Given the description of an element on the screen output the (x, y) to click on. 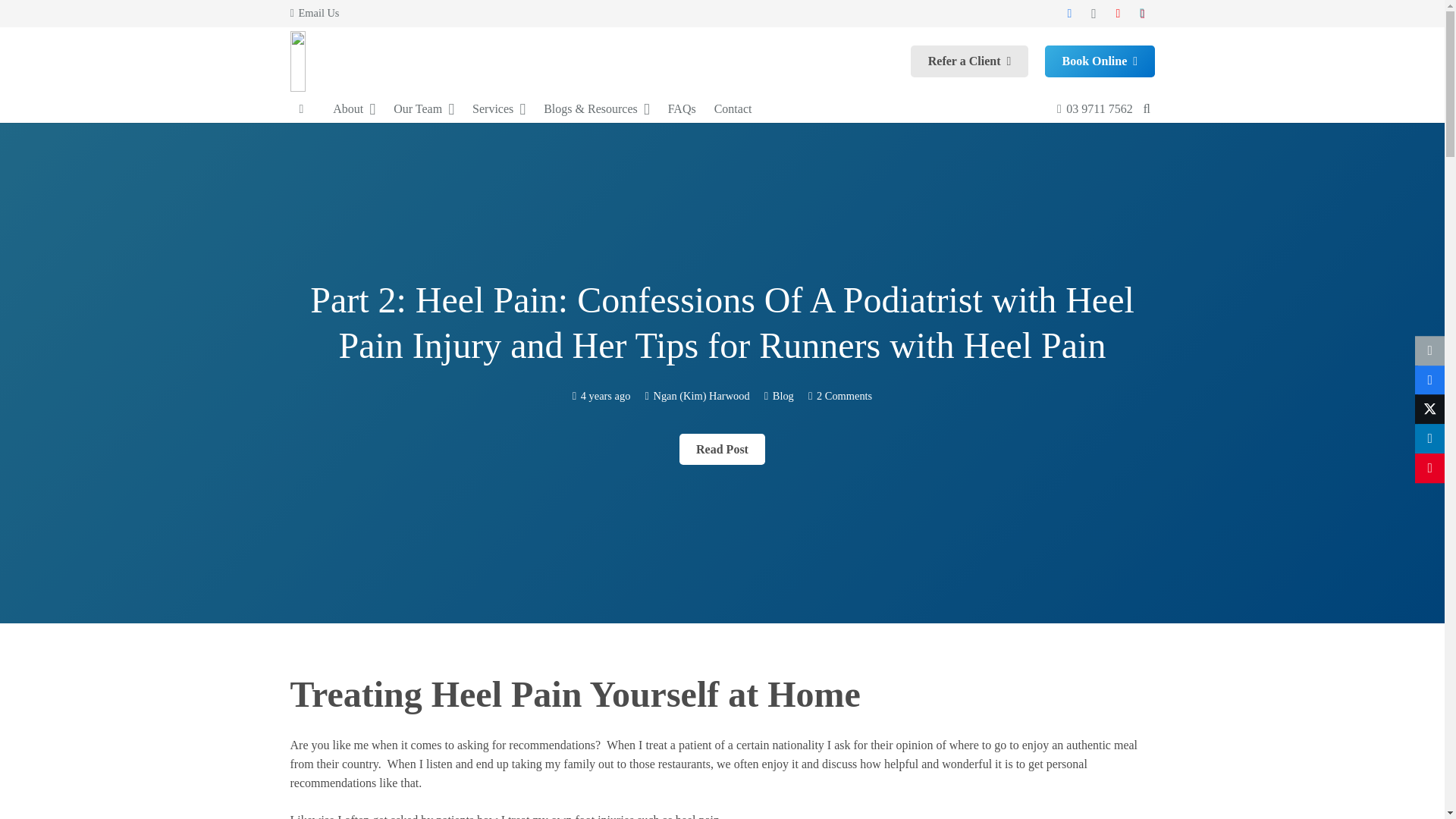
Services (498, 108)
TikTok (1142, 13)
Our Team (423, 108)
2 Comments (844, 395)
Refer a Client (969, 60)
YouTube (1118, 13)
Email Us (314, 12)
Instagram (1093, 13)
About (353, 108)
Facebook (1069, 13)
